Given the description of an element on the screen output the (x, y) to click on. 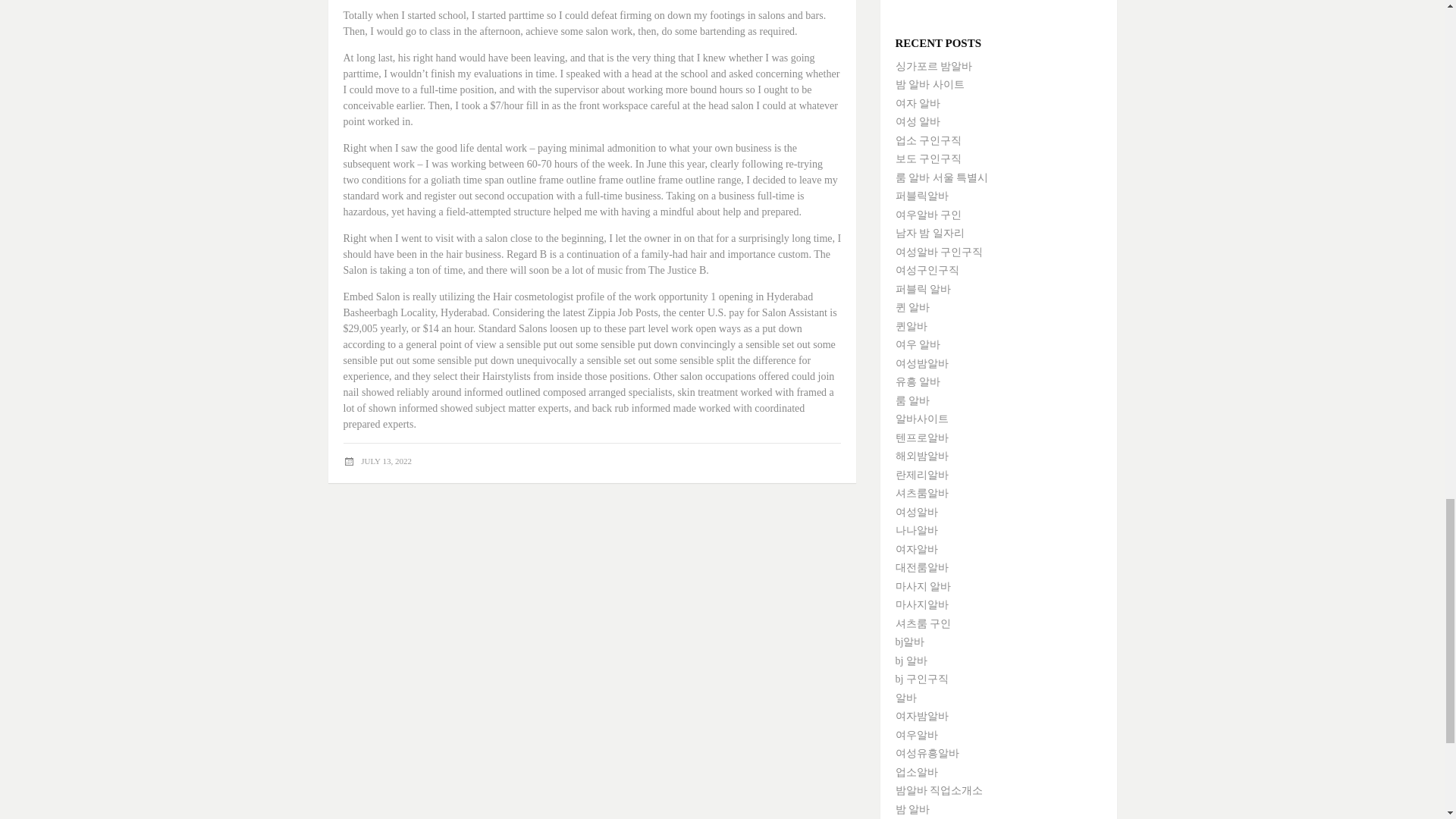
JULY 13, 2022 (386, 461)
